Given the description of an element on the screen output the (x, y) to click on. 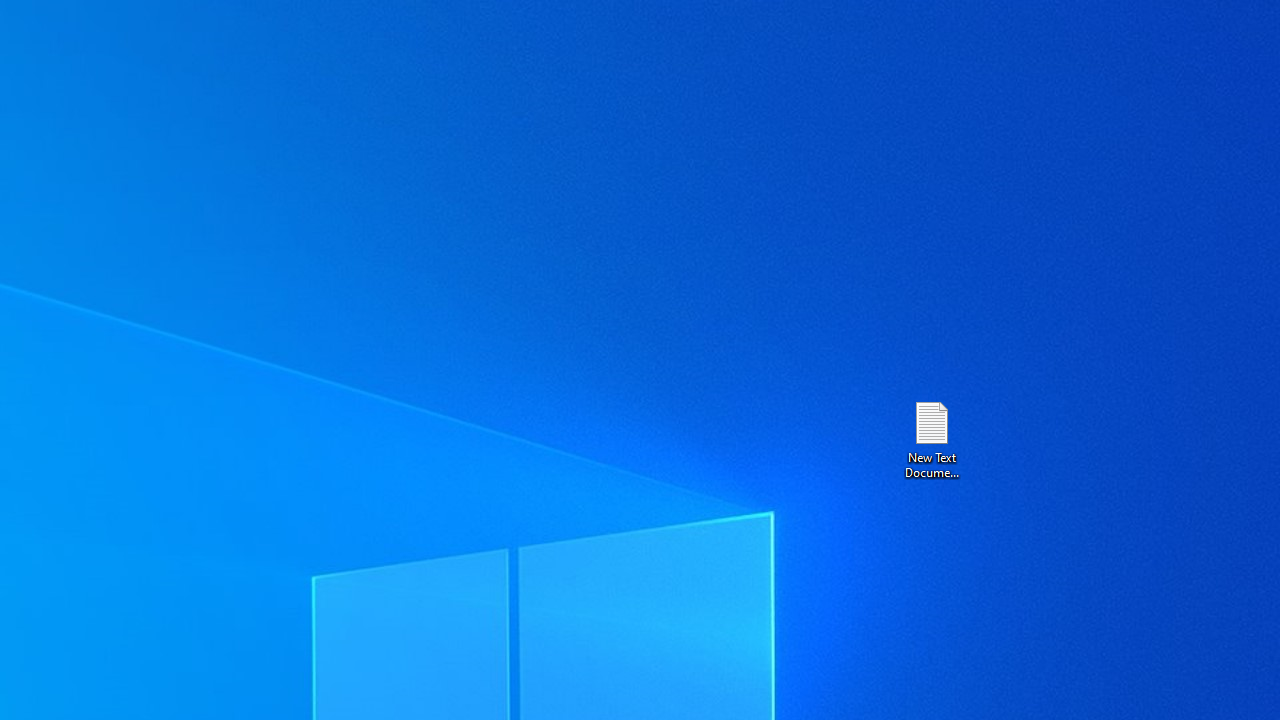
Screen Recording... (123, 102)
Previous page (841, 238)
play Record a Presentation (1038, 695)
